Given the description of an element on the screen output the (x, y) to click on. 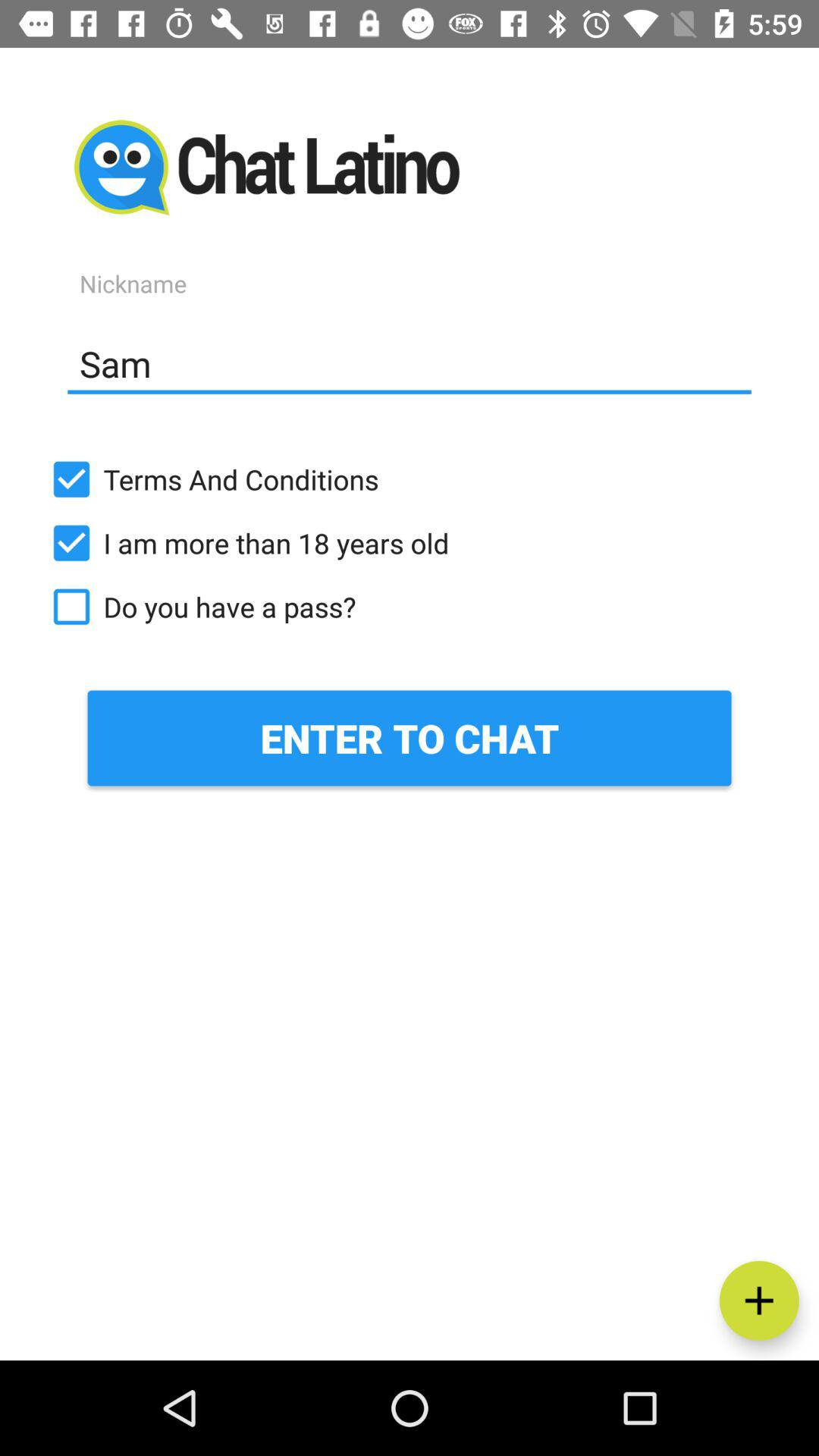
jump until the sam (409, 363)
